Given the description of an element on the screen output the (x, y) to click on. 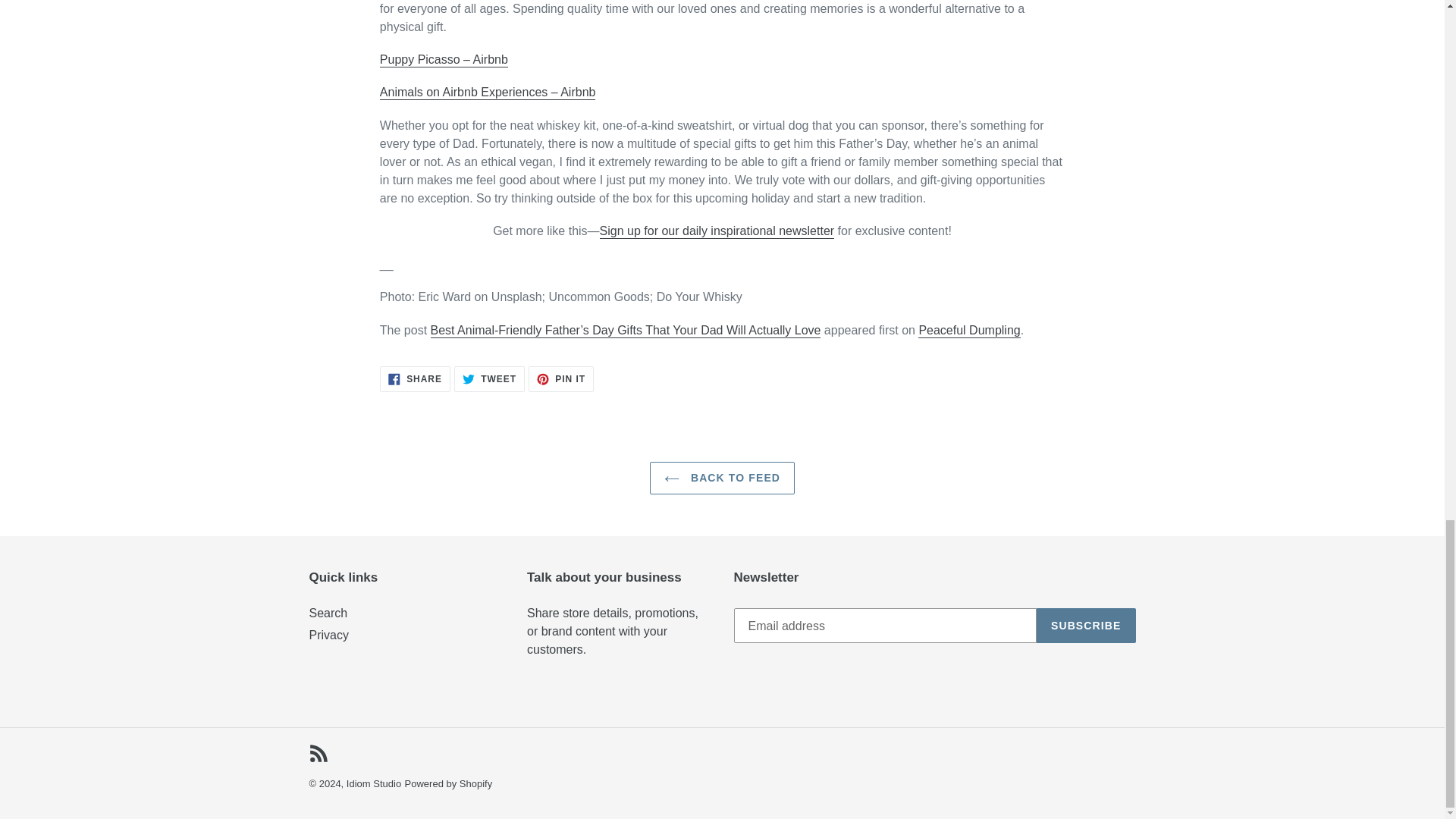
Sign up for our daily inspirational newsletter (414, 379)
Idiom Studio (716, 231)
Privacy (373, 783)
SUBSCRIBE (328, 634)
RSS (489, 379)
Peaceful Dumpling (1085, 625)
Search (318, 752)
Powered by Shopify (969, 330)
BACK TO FEED (327, 612)
